Given the description of an element on the screen output the (x, y) to click on. 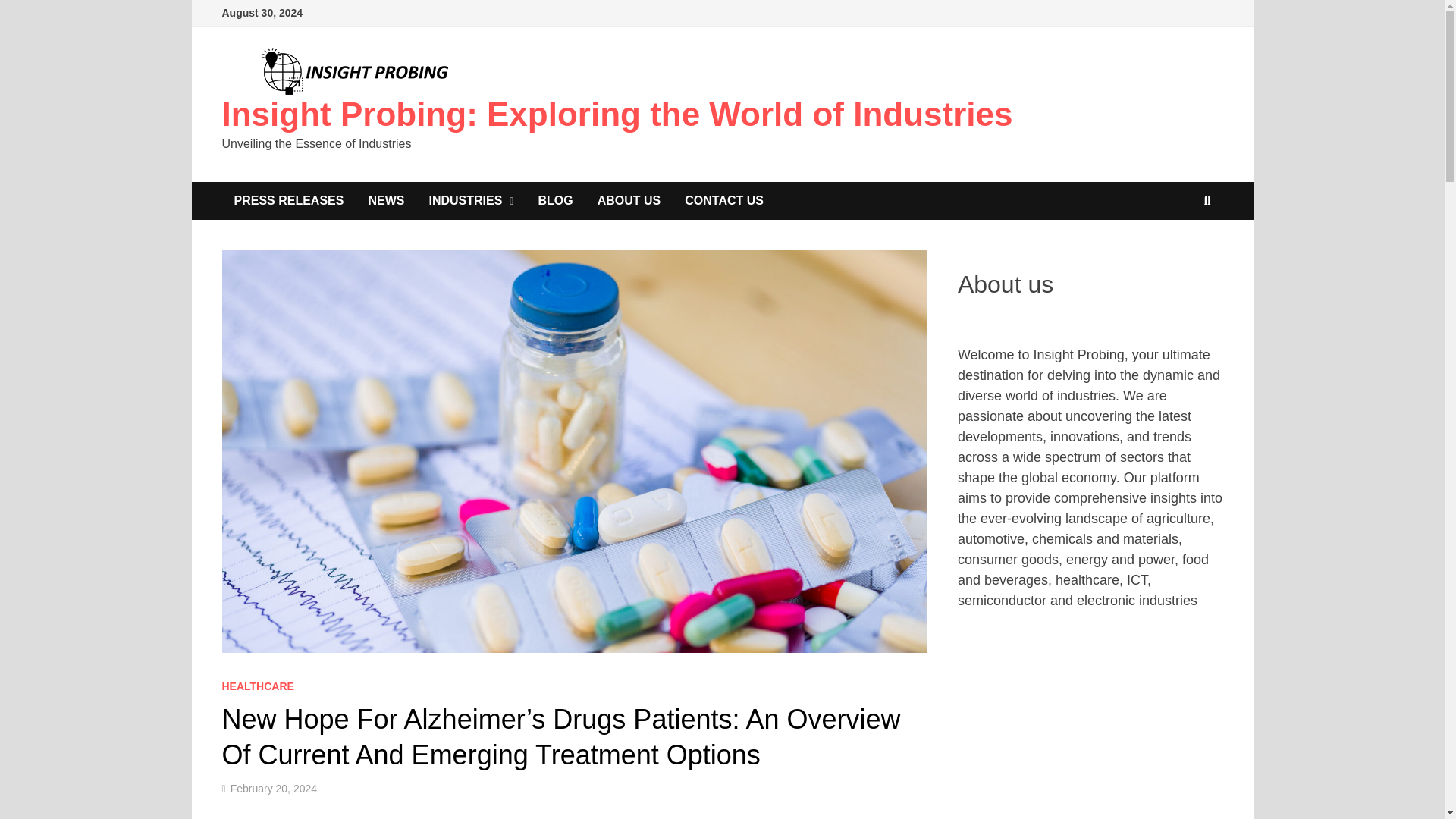
BLOG (555, 200)
NEWS (385, 200)
Insight Probing: Exploring the World of Industries (616, 113)
CONTACT US (724, 200)
PRESS RELEASES (288, 200)
INDUSTRIES (470, 200)
ABOUT US (628, 200)
